Given the description of an element on the screen output the (x, y) to click on. 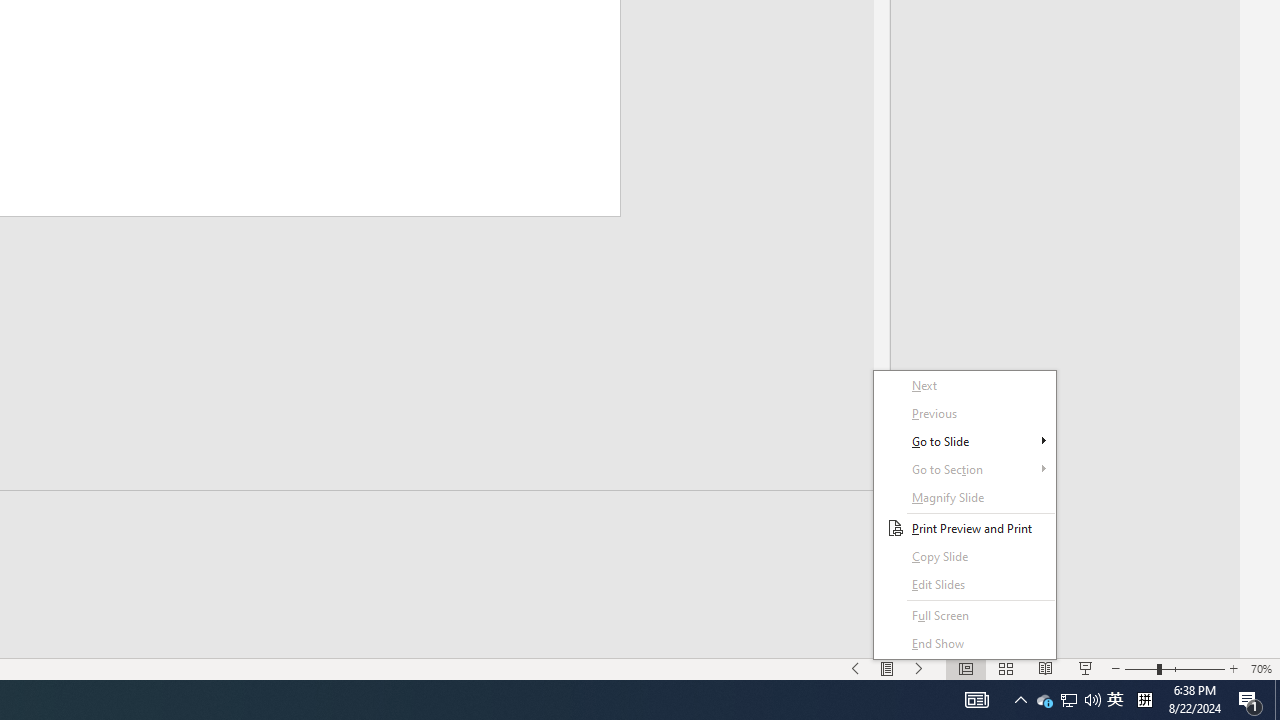
Next (964, 386)
Context Menu (964, 515)
Previous (964, 413)
Class: NetUITWMenuContainer (1044, 699)
Copy Slide (964, 515)
End Show (964, 556)
